Given the description of an element on the screen output the (x, y) to click on. 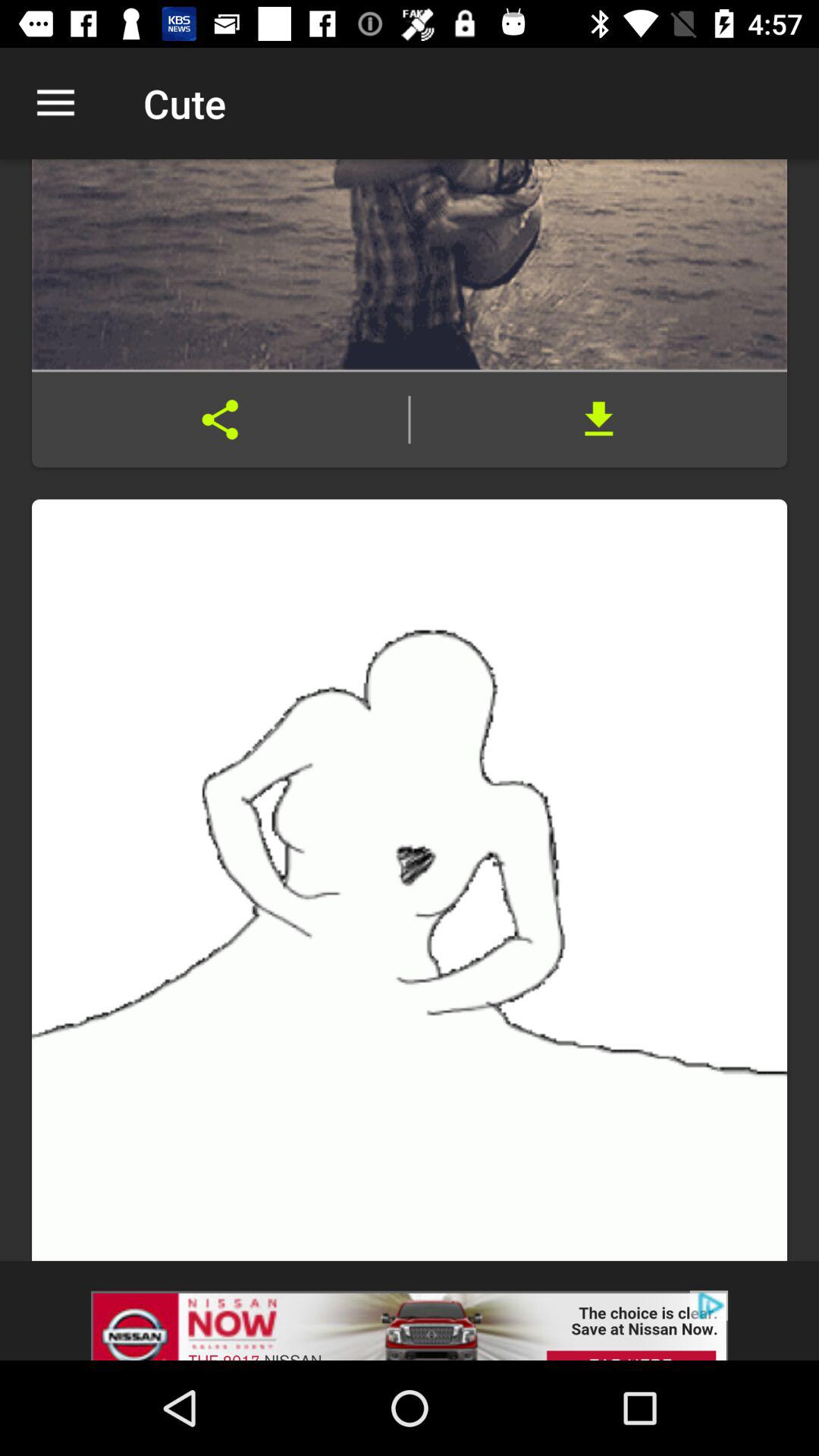
advertisement option (409, 1310)
